Given the description of an element on the screen output the (x, y) to click on. 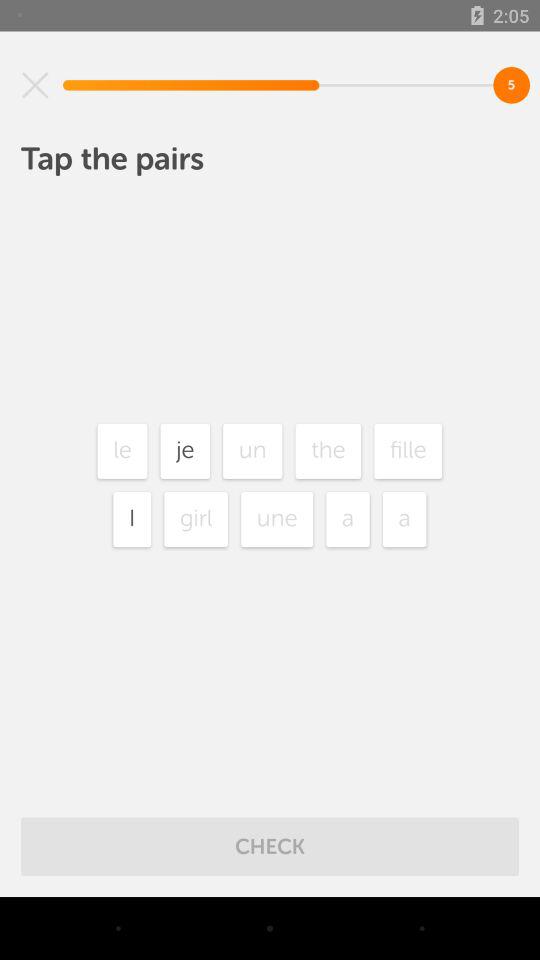
select the icon at the top left corner (35, 85)
